Given the description of an element on the screen output the (x, y) to click on. 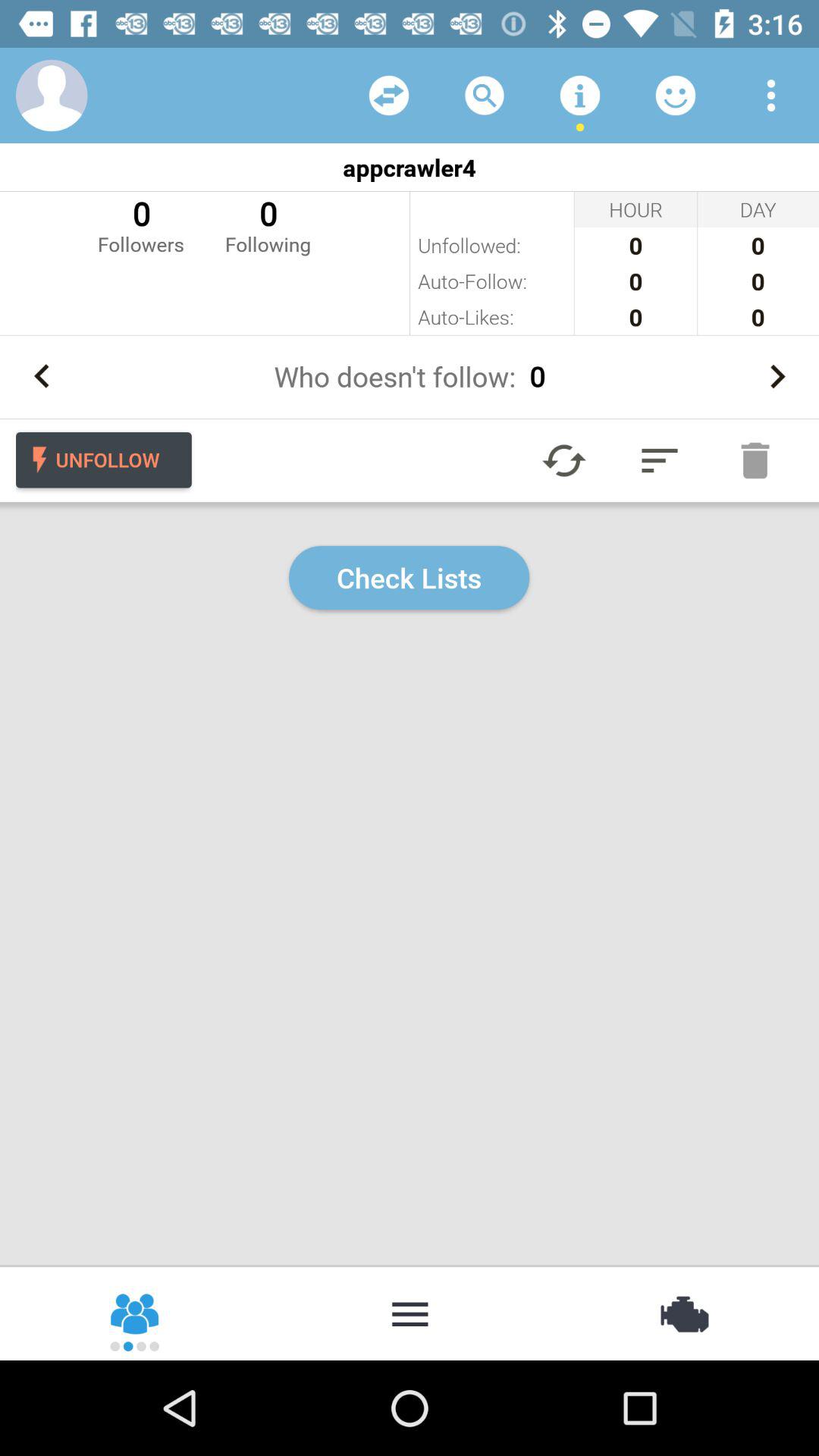
go to settings (683, 1312)
